Given the description of an element on the screen output the (x, y) to click on. 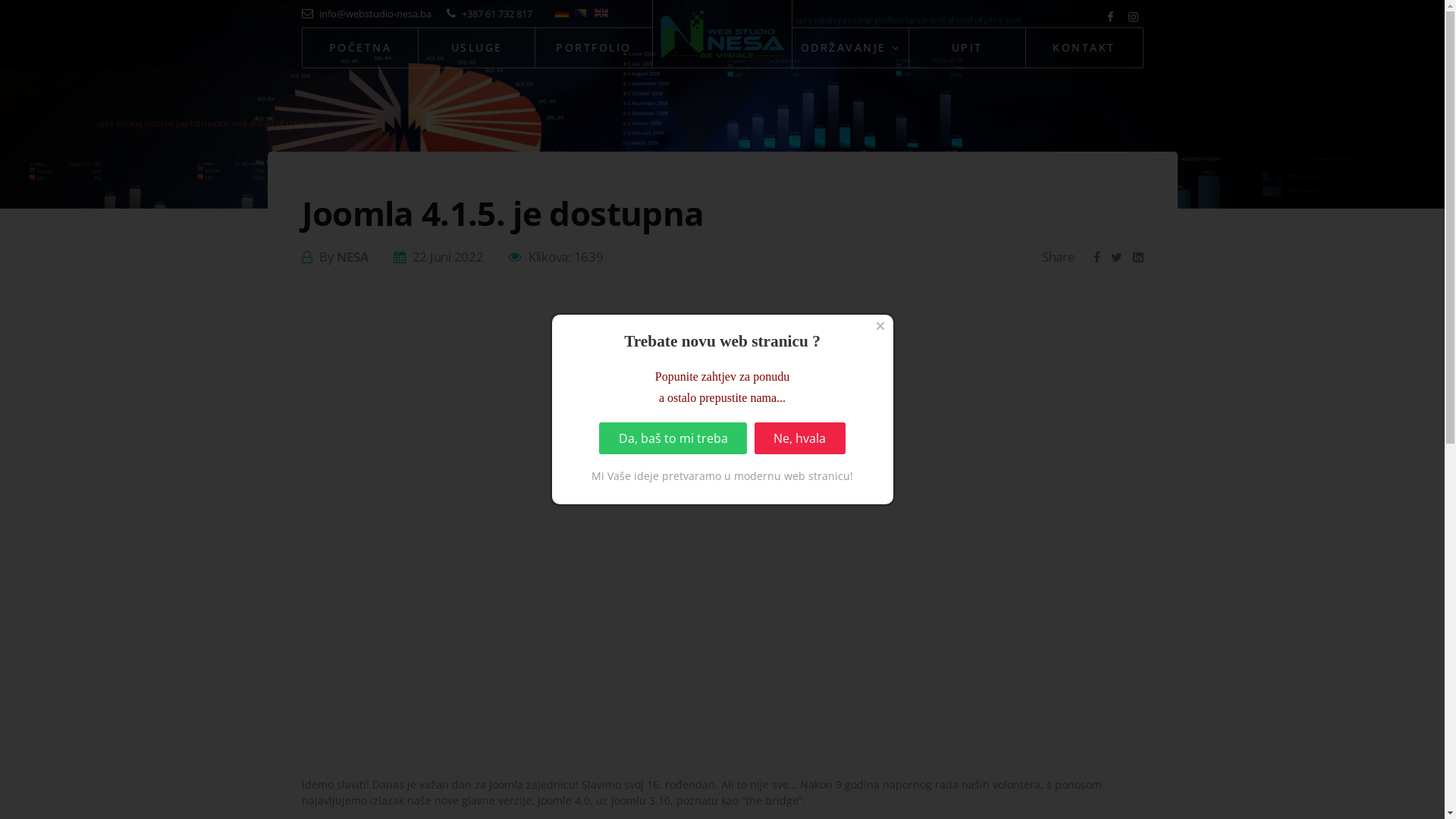
Deutsch (Deutschland) Element type: hover (561, 12)
PORTFOLIO Element type: text (593, 47)
En Element type: hover (601, 12)
Twitter Element type: hover (1115, 256)
Bosanski (Bosnia and Herzegovina) Element type: hover (581, 12)
UPIT Element type: text (967, 47)
info@webstudio-nesa.ba Element type: text (366, 13)
LinkedIn Element type: hover (1137, 256)
+387 61 732 817 Element type: text (488, 13)
Ne, hvala Element type: text (799, 438)
Facebook Element type: hover (1096, 256)
KONTAKT Element type: text (1084, 47)
USLUGE Element type: text (476, 47)
